Given the description of an element on the screen output the (x, y) to click on. 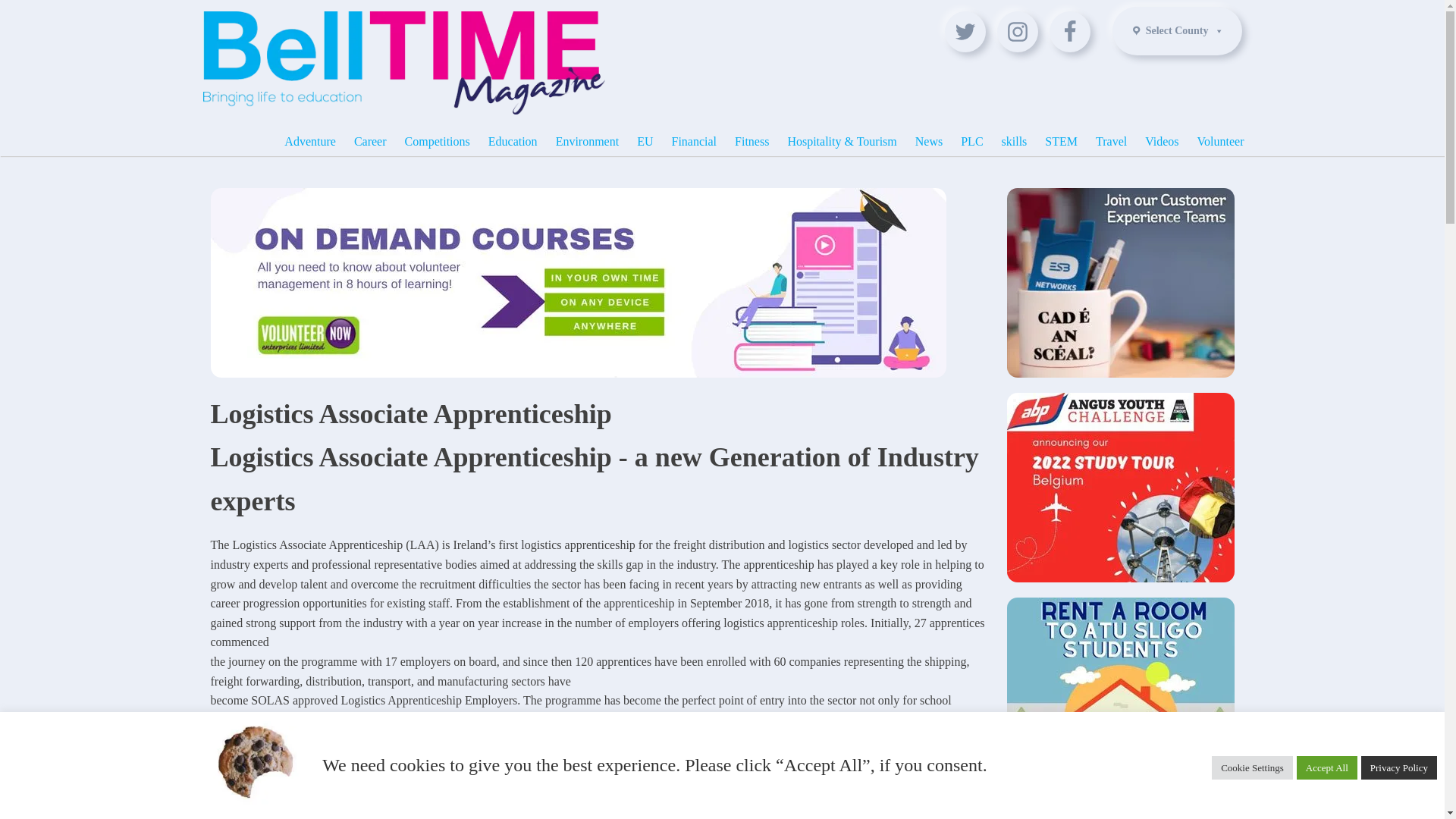
Career (370, 141)
Education (513, 141)
Environment (587, 141)
Select County (1176, 30)
Adventure (310, 141)
Competitions (437, 141)
EU (644, 141)
